Given the description of an element on the screen output the (x, y) to click on. 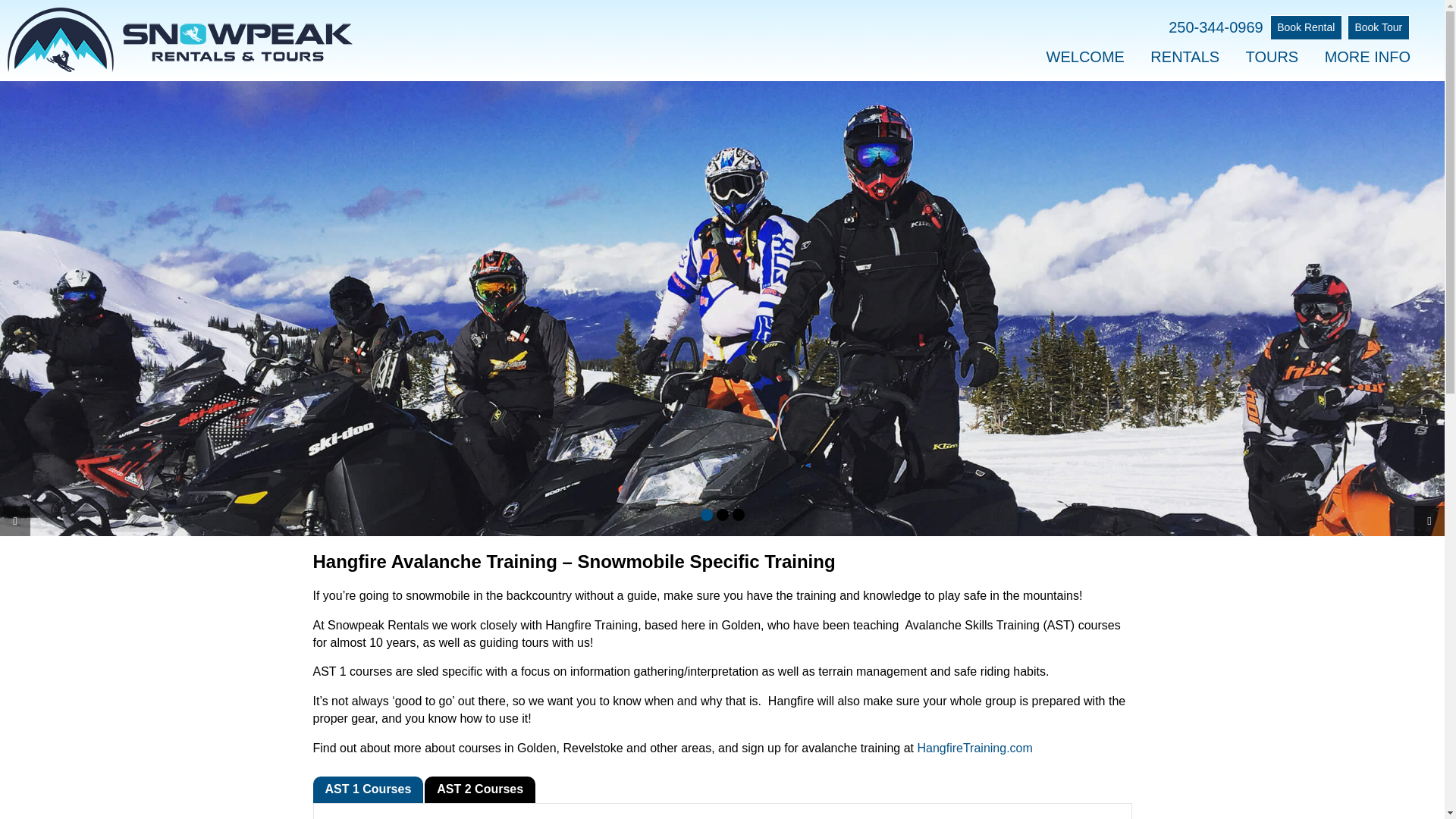
WELCOME (1085, 60)
RENTALS (1184, 60)
Book Tour (1378, 27)
HangfireTraining.com (974, 748)
AST 2 Courses (480, 789)
Book Rental (1305, 27)
AST 1 Courses (368, 789)
250-344-0969 (1213, 27)
TOURS (1272, 60)
MORE INFO (1367, 60)
